Given the description of an element on the screen output the (x, y) to click on. 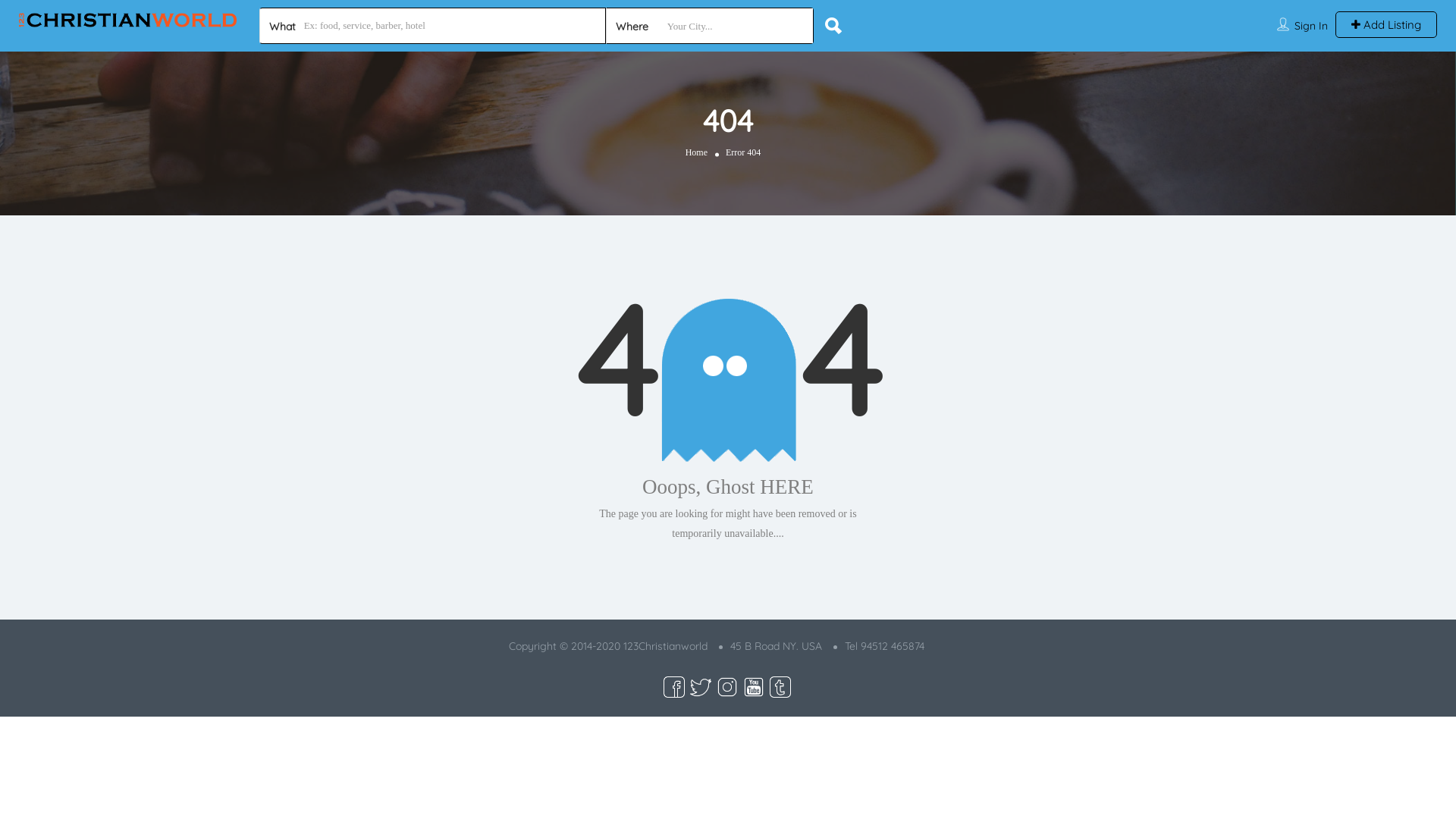
Home Element type: text (696, 152)
Sign In Element type: text (1310, 25)
Add Listing Element type: text (1386, 24)
